Given the description of an element on the screen output the (x, y) to click on. 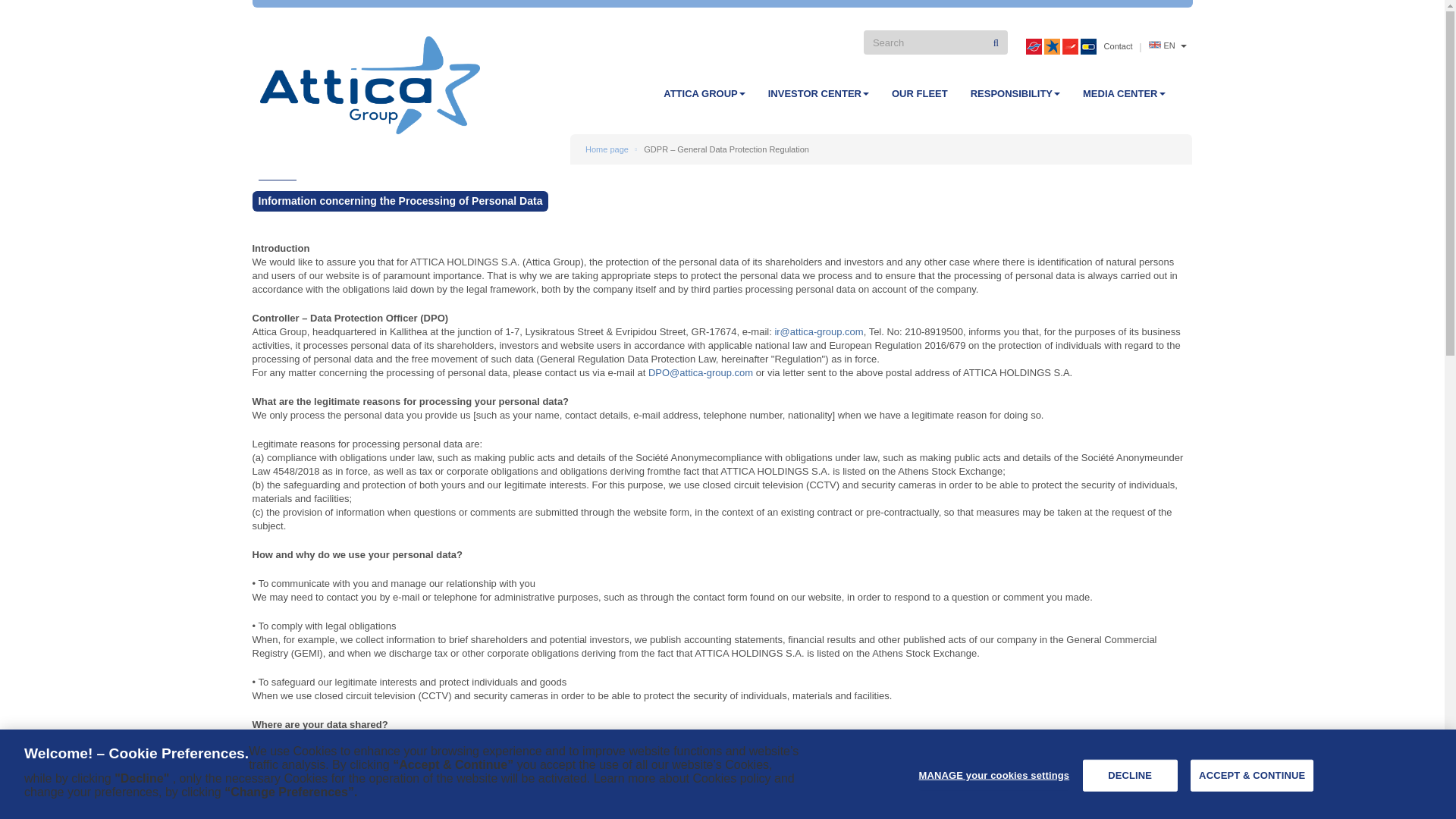
ATTICA GROUP (704, 94)
INVESTOR CENTER (818, 94)
MEDIA CENTER (1123, 94)
Contact (1117, 46)
OUR FLEET (919, 94)
Home page (606, 148)
RESPONSIBILITY (1015, 94)
EN (1167, 46)
